Given the description of an element on the screen output the (x, y) to click on. 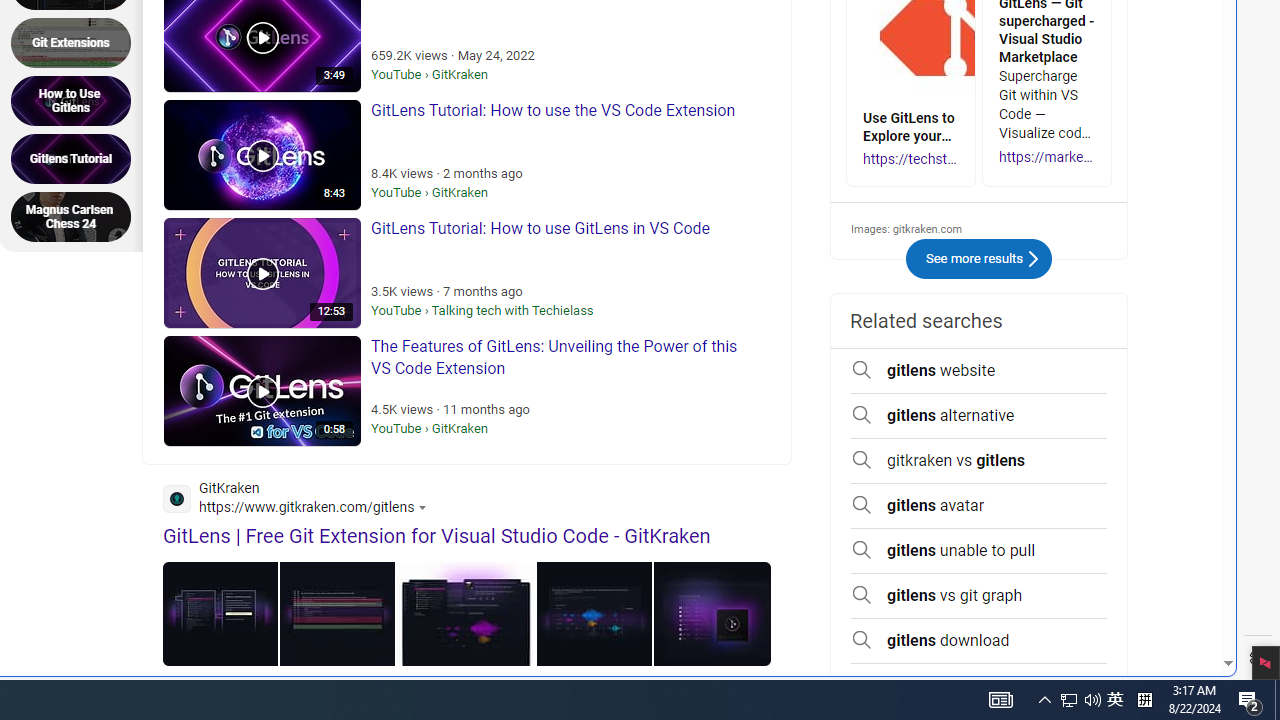
How to Use Gitlens (77, 100)
